Given the description of an element on the screen output the (x, y) to click on. 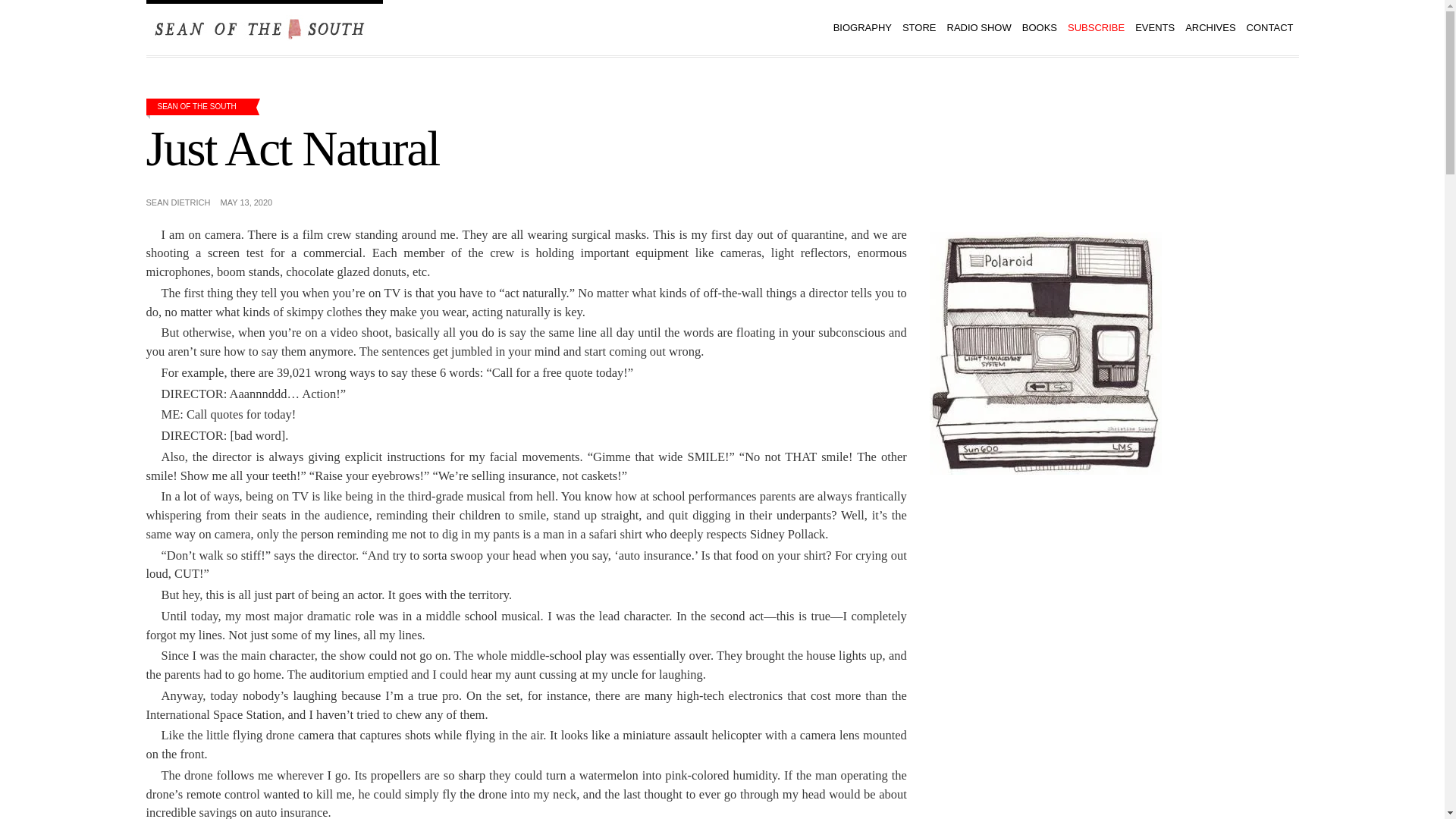
SUBSCRIBE (1095, 27)
STORE (919, 27)
SEAN OF THE SOUTH (196, 106)
BIOGRAPHY (862, 27)
ARCHIVES (1209, 27)
CONTACT (1269, 27)
RADIO SHOW (979, 27)
EVENTS (1154, 27)
BOOKS (1039, 27)
